Given the description of an element on the screen output the (x, y) to click on. 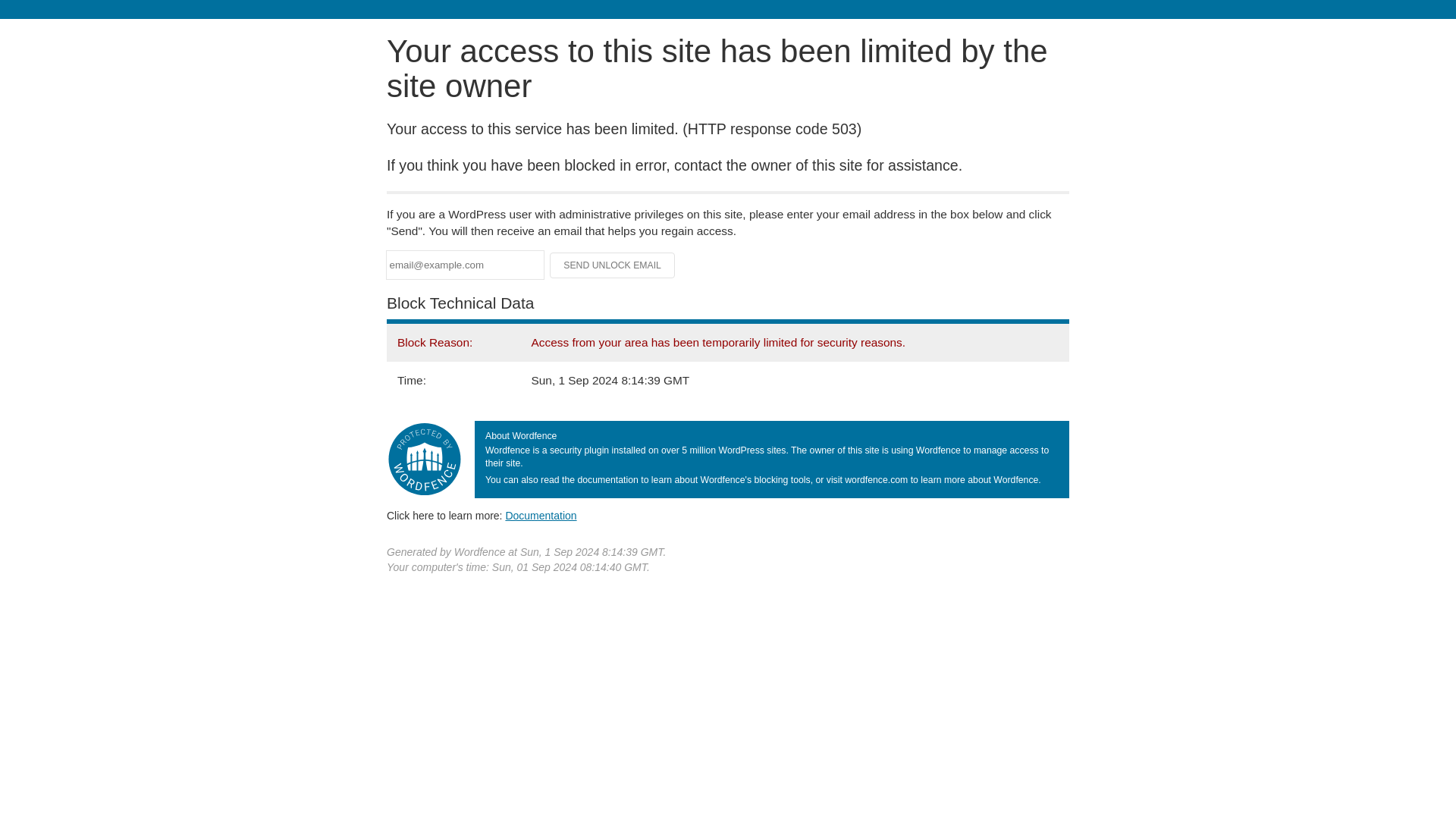
Documentation (540, 515)
Send Unlock Email (612, 265)
Send Unlock Email (612, 265)
